Given the description of an element on the screen output the (x, y) to click on. 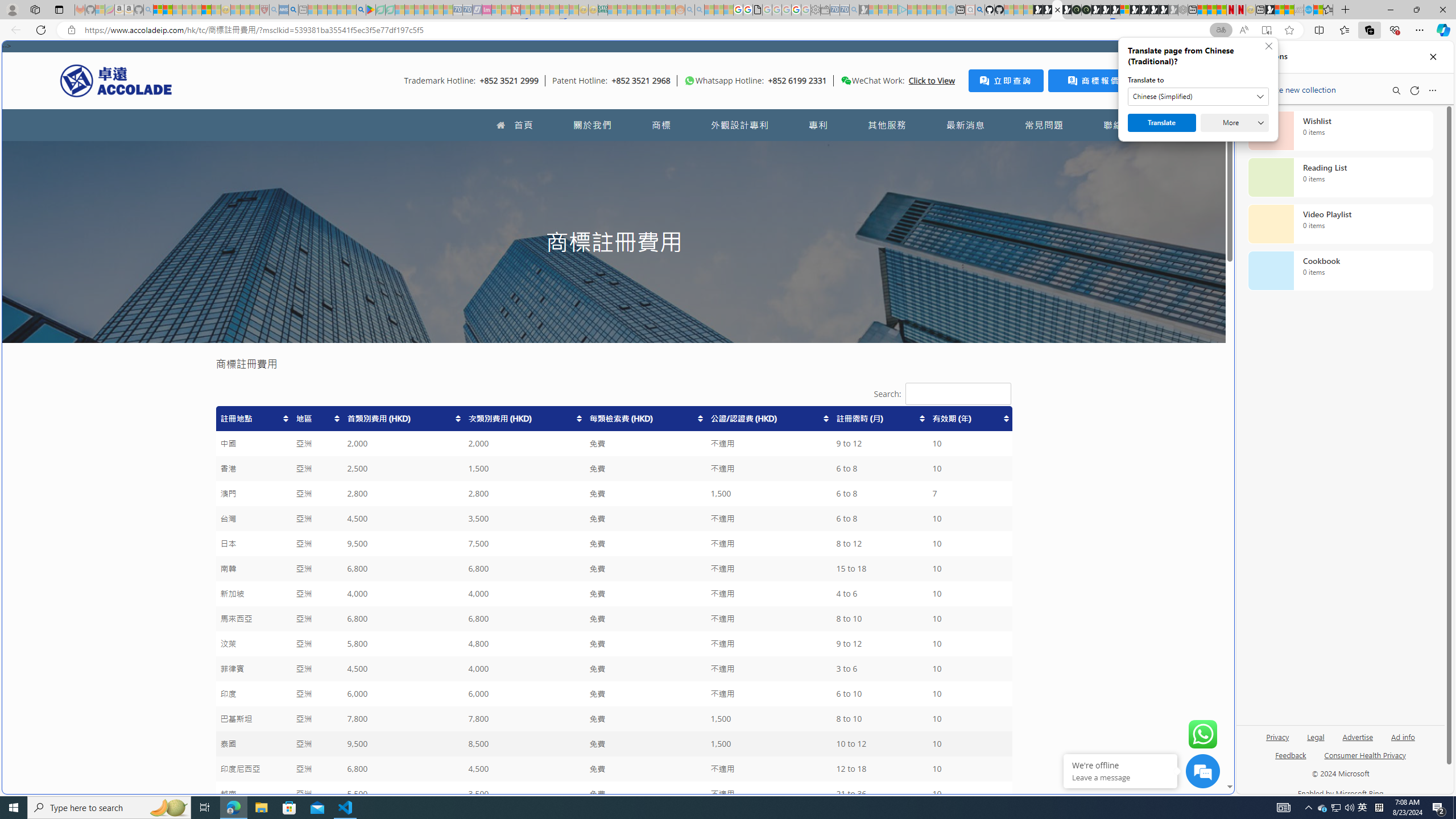
Wallet - Sleeping (824, 9)
6,000 (524, 693)
3 to 6 (879, 669)
Privacy (1278, 736)
3,500 (524, 793)
Translate (1161, 122)
Class: desktop (845, 80)
Class: row-10 even (613, 643)
Search: (957, 393)
Tabs you've opened (885, 151)
